Given the description of an element on the screen output the (x, y) to click on. 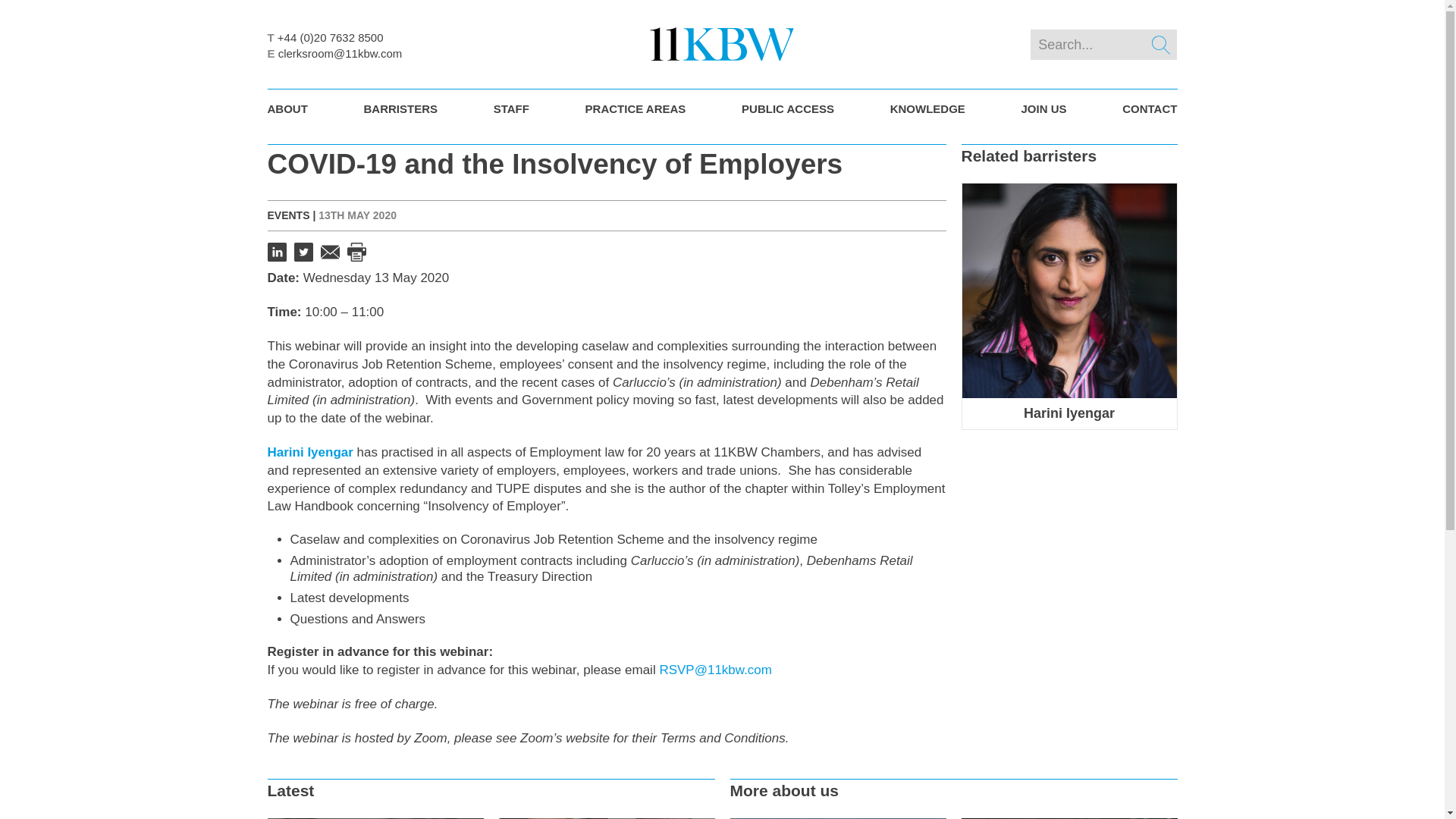
STAFF (510, 108)
Go (1160, 44)
BARRISTERS (400, 108)
PRACTICE AREAS (635, 108)
ABOUT (288, 108)
